Given the description of an element on the screen output the (x, y) to click on. 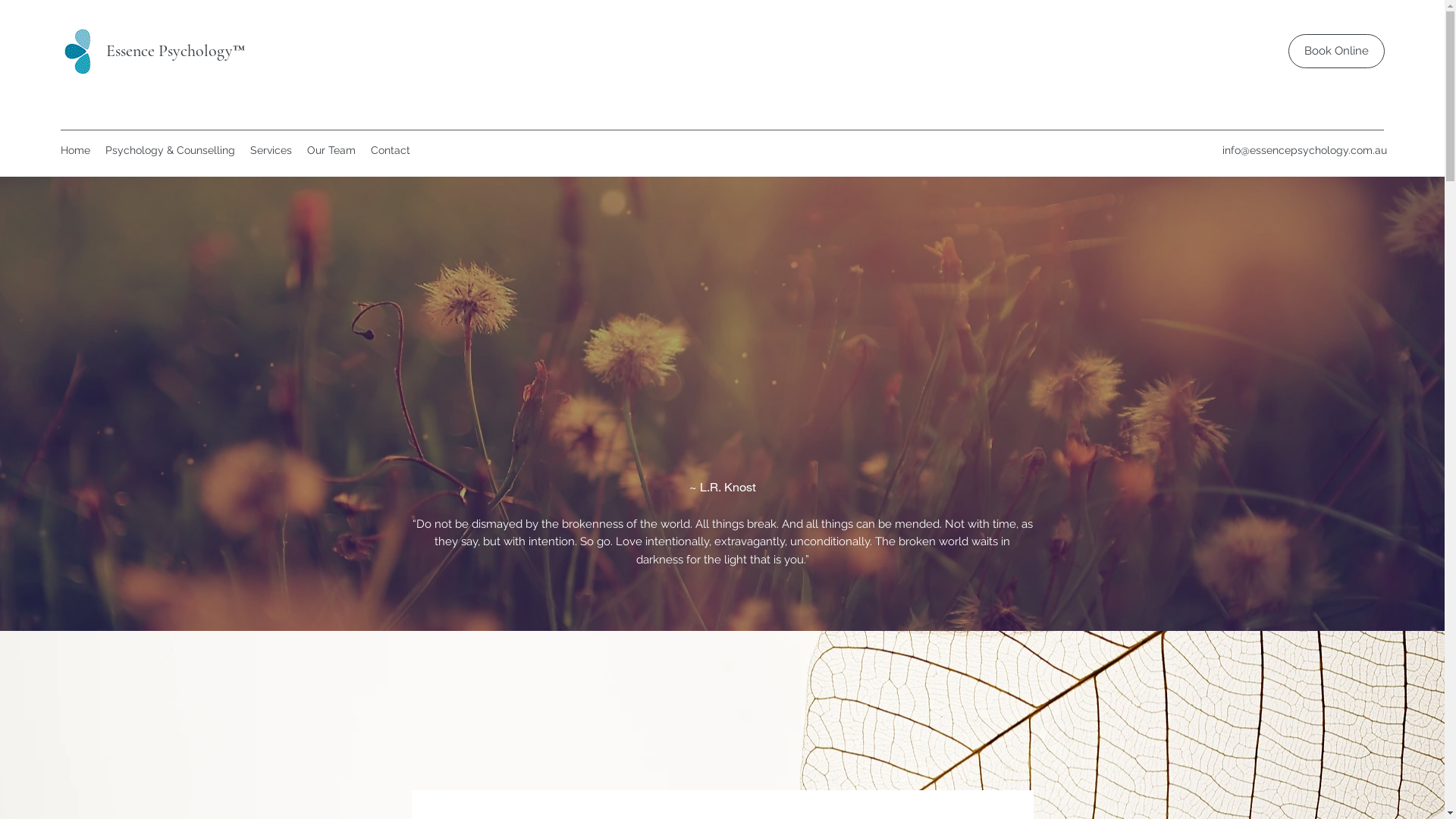
Contact Element type: text (390, 149)
Psychology & Counselling Element type: text (169, 149)
Our Team Element type: text (331, 149)
Services Element type: text (270, 149)
Home Element type: text (75, 149)
Book Online Element type: text (1336, 51)
info@essencepsychology.com.au Element type: text (1304, 150)
